Given the description of an element on the screen output the (x, y) to click on. 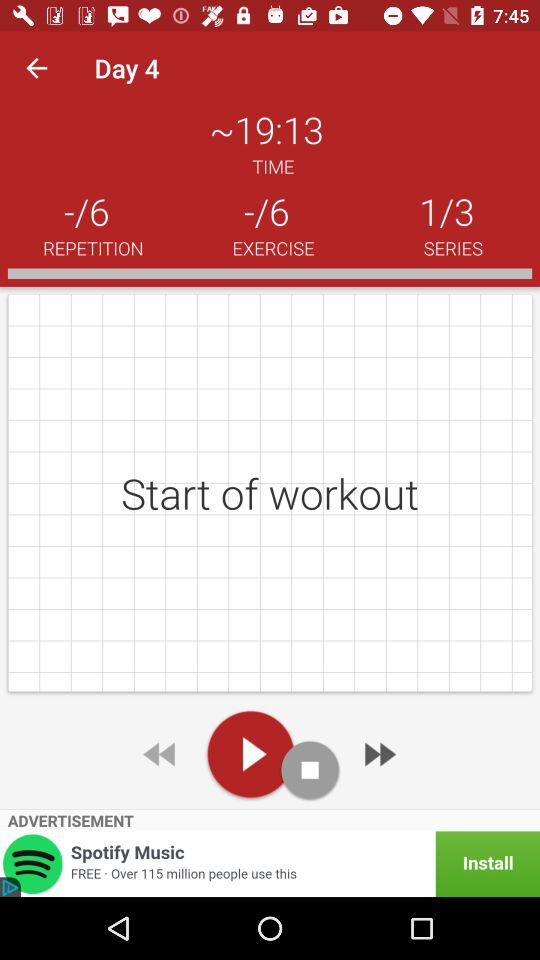
replay (161, 754)
